Given the description of an element on the screen output the (x, y) to click on. 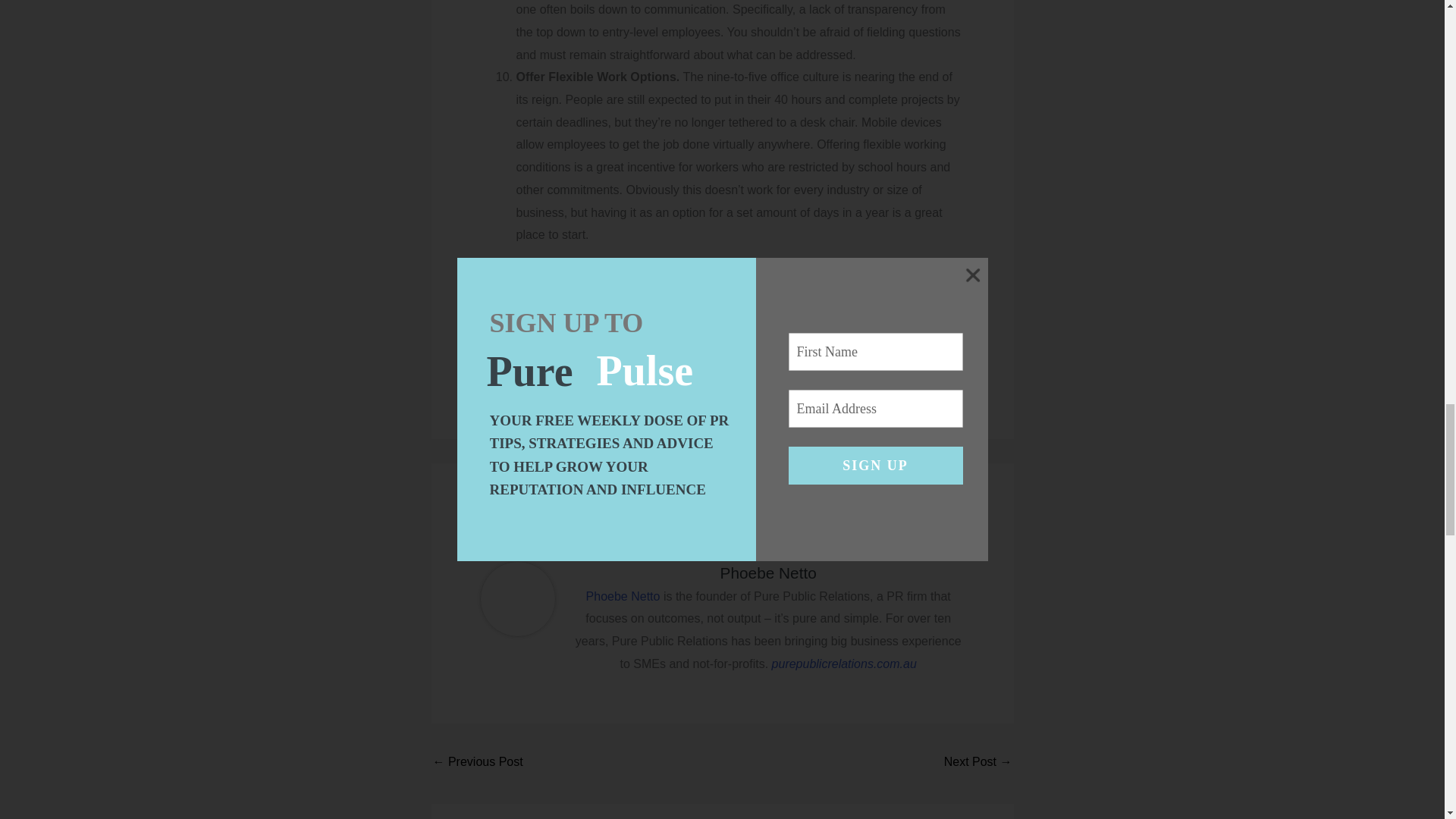
Do you want fries or lifetime membership with that? (977, 763)
Open for business (477, 763)
